Given the description of an element on the screen output the (x, y) to click on. 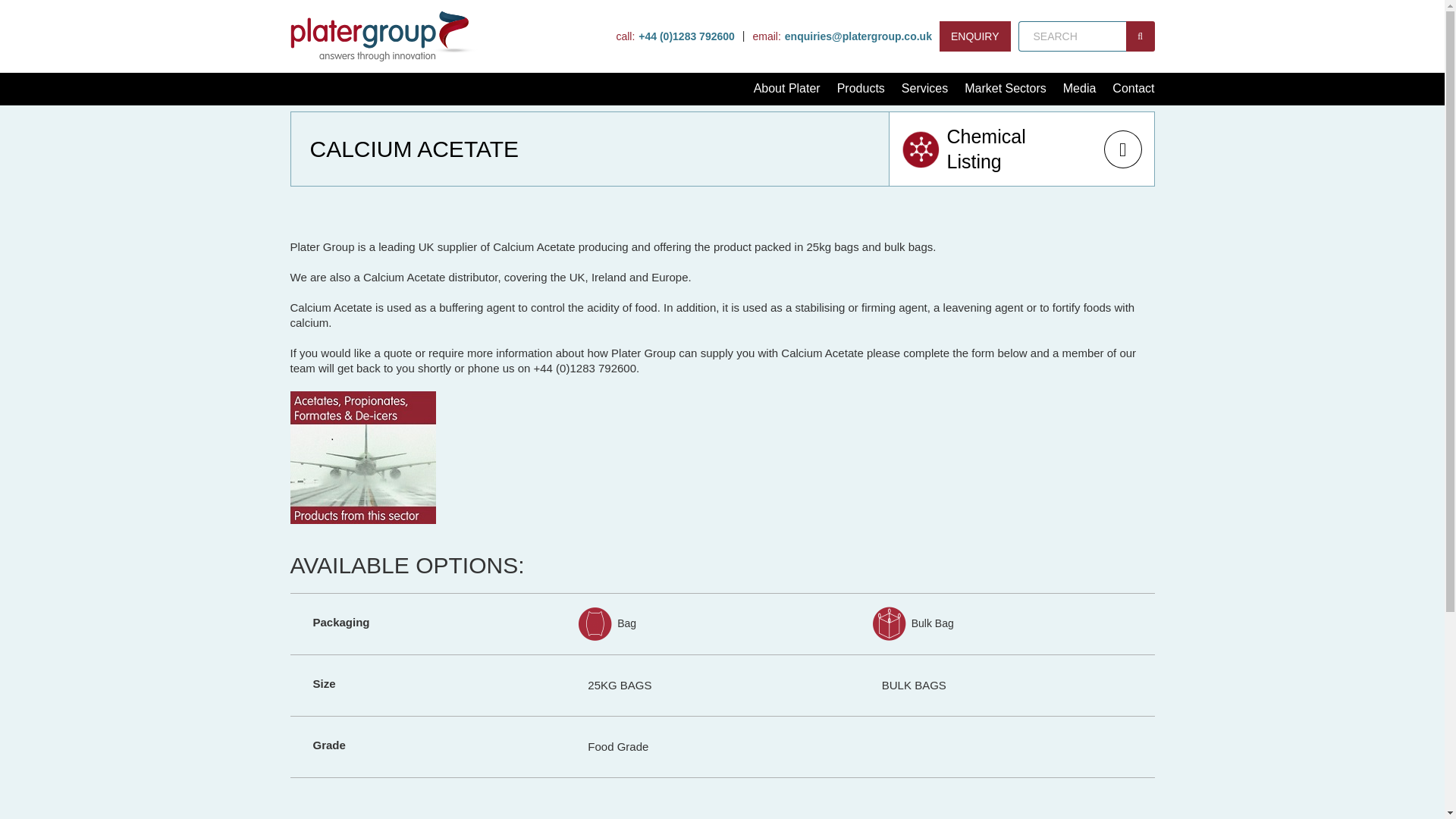
About Plater (786, 88)
ENQUIRY (974, 36)
